Given the description of an element on the screen output the (x, y) to click on. 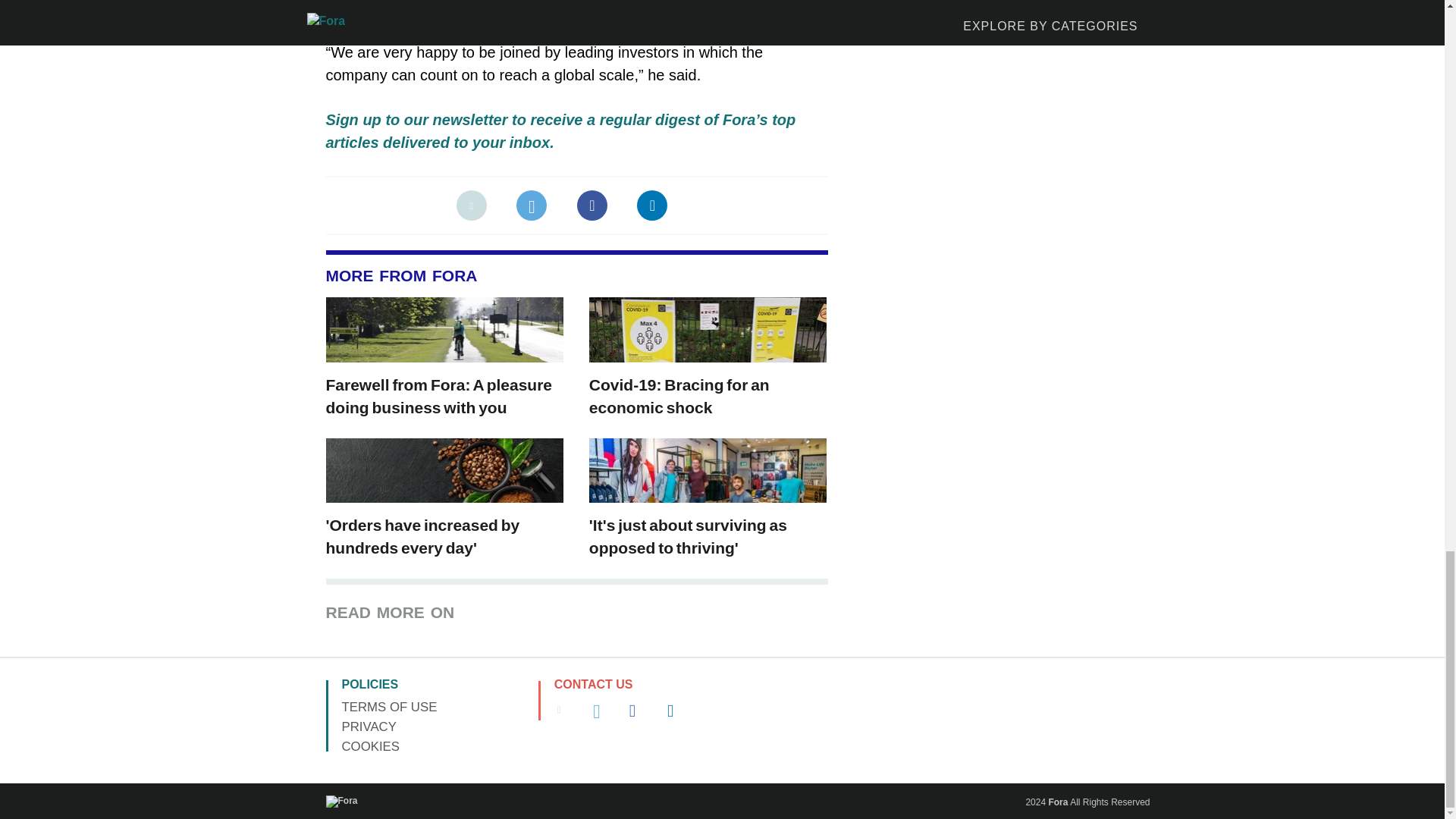
'It's just about surviving as opposed to thriving' (688, 536)
Fora (1057, 801)
TERMS OF USE (388, 707)
'Orders have increased by hundreds every day' (422, 536)
Farewell from Fora: A pleasure doing business with you (439, 395)
PRIVACY (368, 726)
COOKIES (369, 746)
Covid-19: Bracing for an economic shock (679, 395)
